Given the description of an element on the screen output the (x, y) to click on. 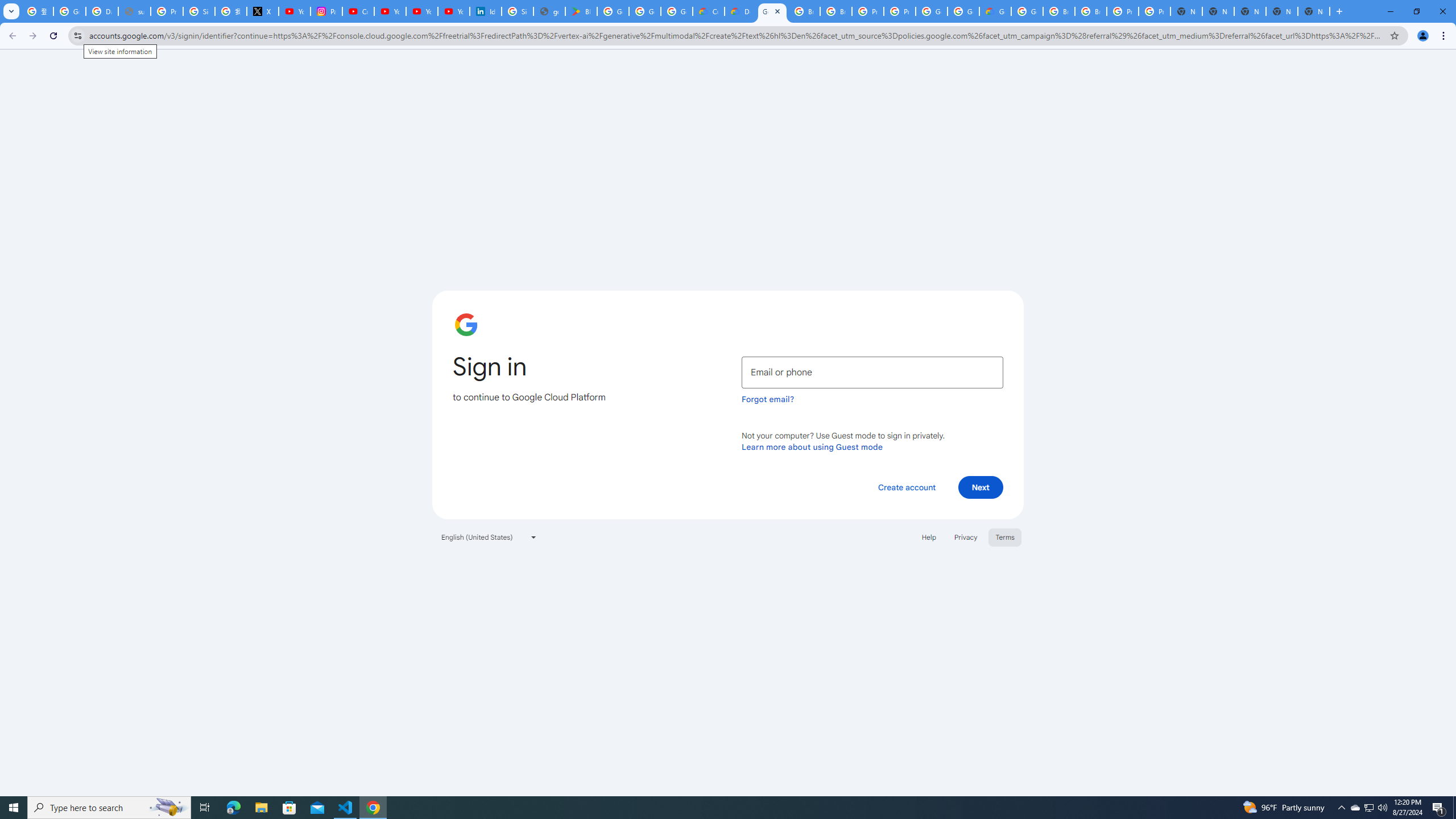
Create account (905, 486)
Next (980, 486)
Email or phone (872, 372)
Google Cloud Platform (931, 11)
YouTube Culture & Trends - YouTube Top 10, 2021 (421, 11)
Google Cloud Platform (963, 11)
